Given the description of an element on the screen output the (x, y) to click on. 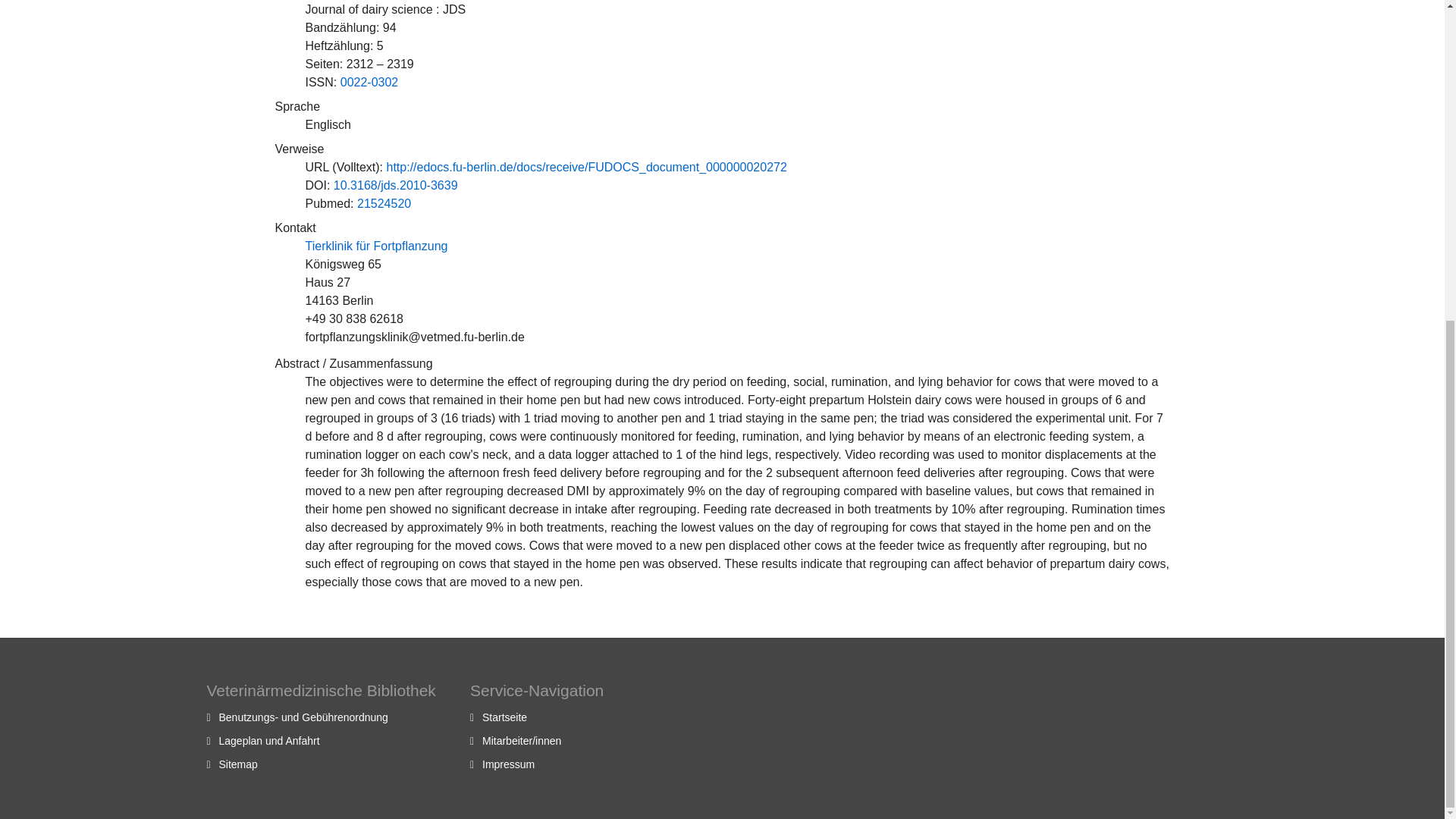
Lageplan und Anfahrt (268, 740)
Sitemap (237, 764)
Startseite (504, 717)
21524520 (383, 203)
0022-0302 (369, 82)
Impressum (507, 764)
